Given the description of an element on the screen output the (x, y) to click on. 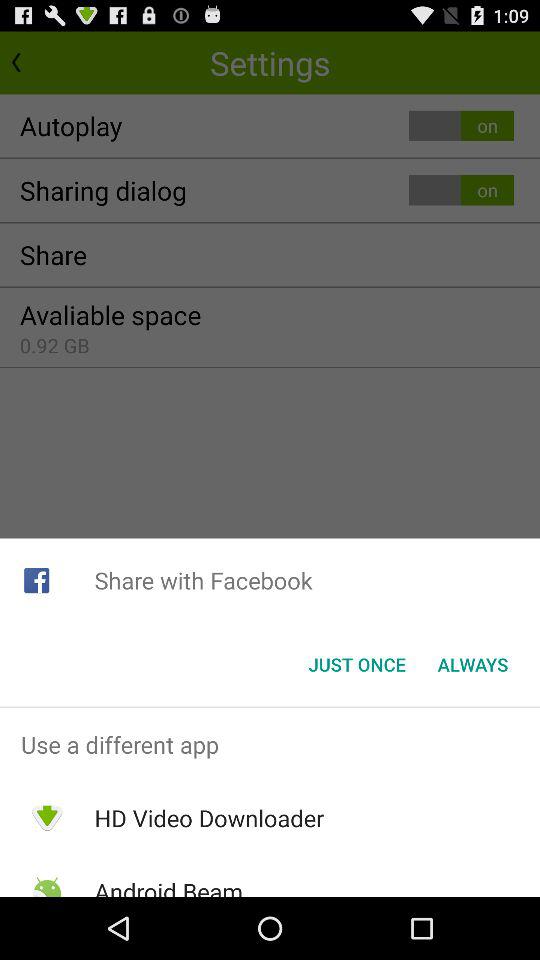
select item above the hd video downloader icon (270, 744)
